Given the description of an element on the screen output the (x, y) to click on. 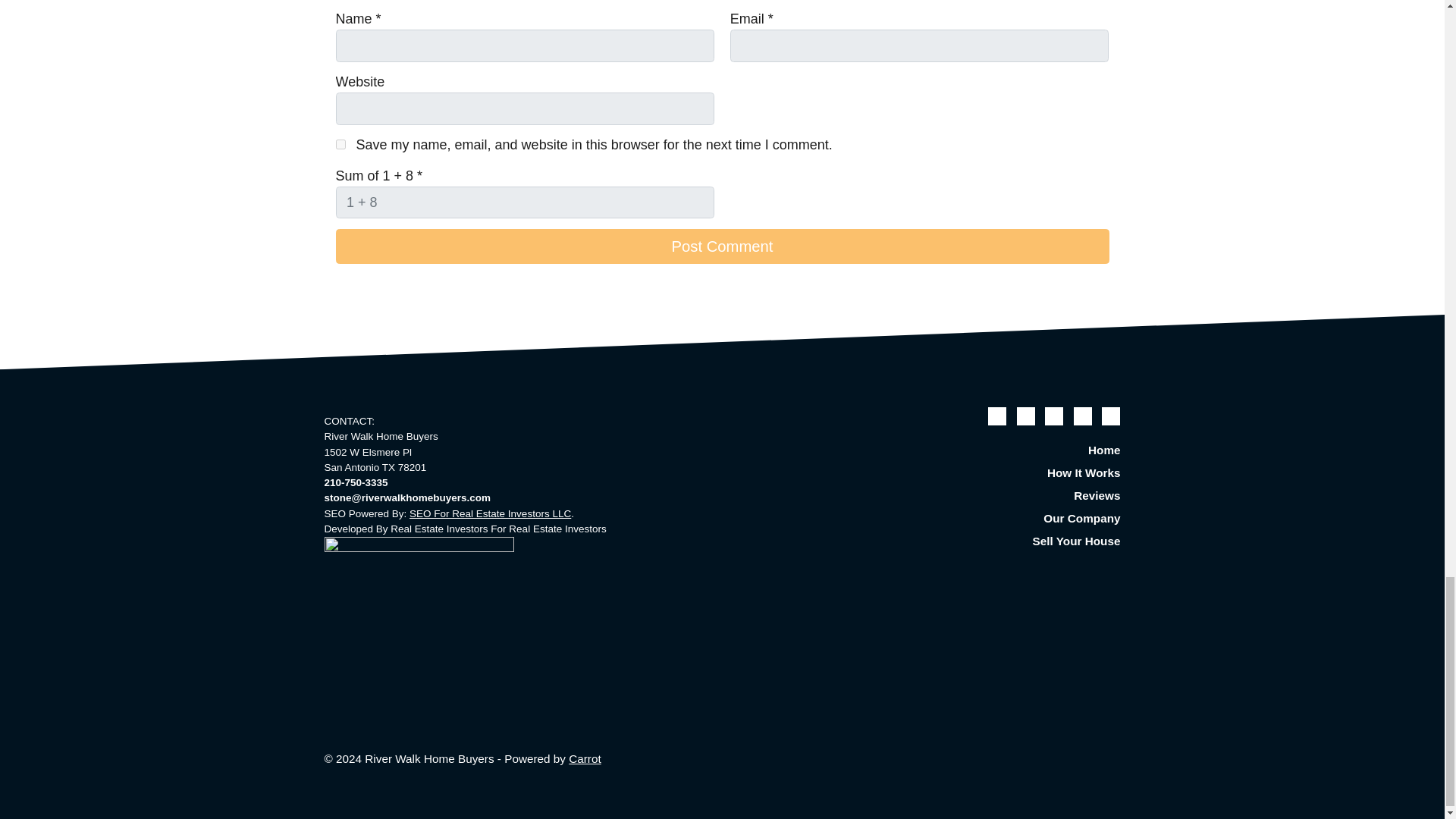
Reviews (995, 495)
YouTube (1053, 416)
LinkedIn (1083, 416)
Twitter (997, 416)
Home (995, 449)
Sell Your House (995, 541)
Post Comment (721, 246)
Our Company (995, 517)
Post Comment (721, 246)
Carrot (585, 758)
